Given the description of an element on the screen output the (x, y) to click on. 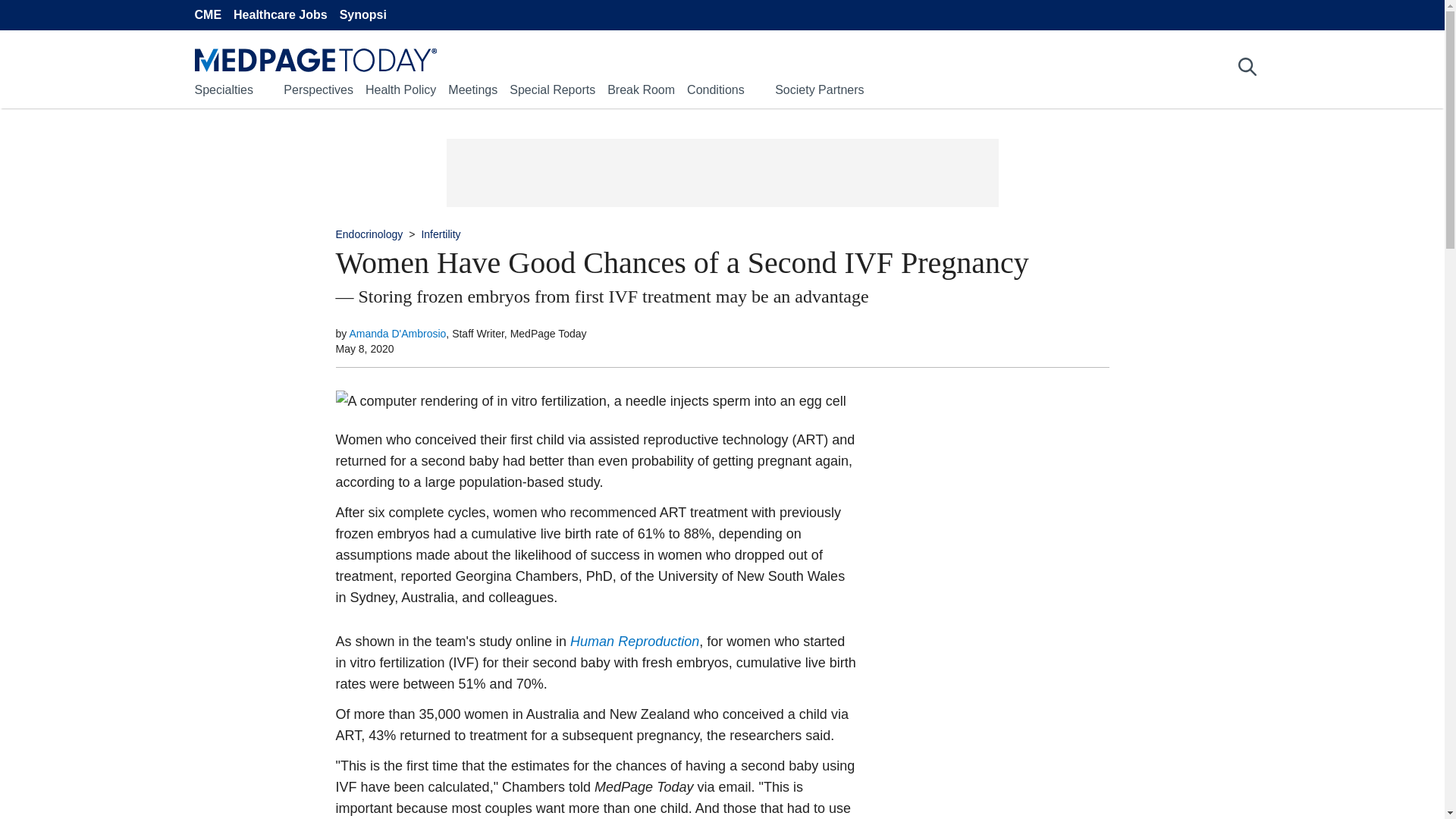
CME (207, 15)
Synopsi (363, 15)
Healthcare Jobs (279, 15)
Opens in a new tab or window (634, 641)
Specialties (222, 89)
